Given the description of an element on the screen output the (x, y) to click on. 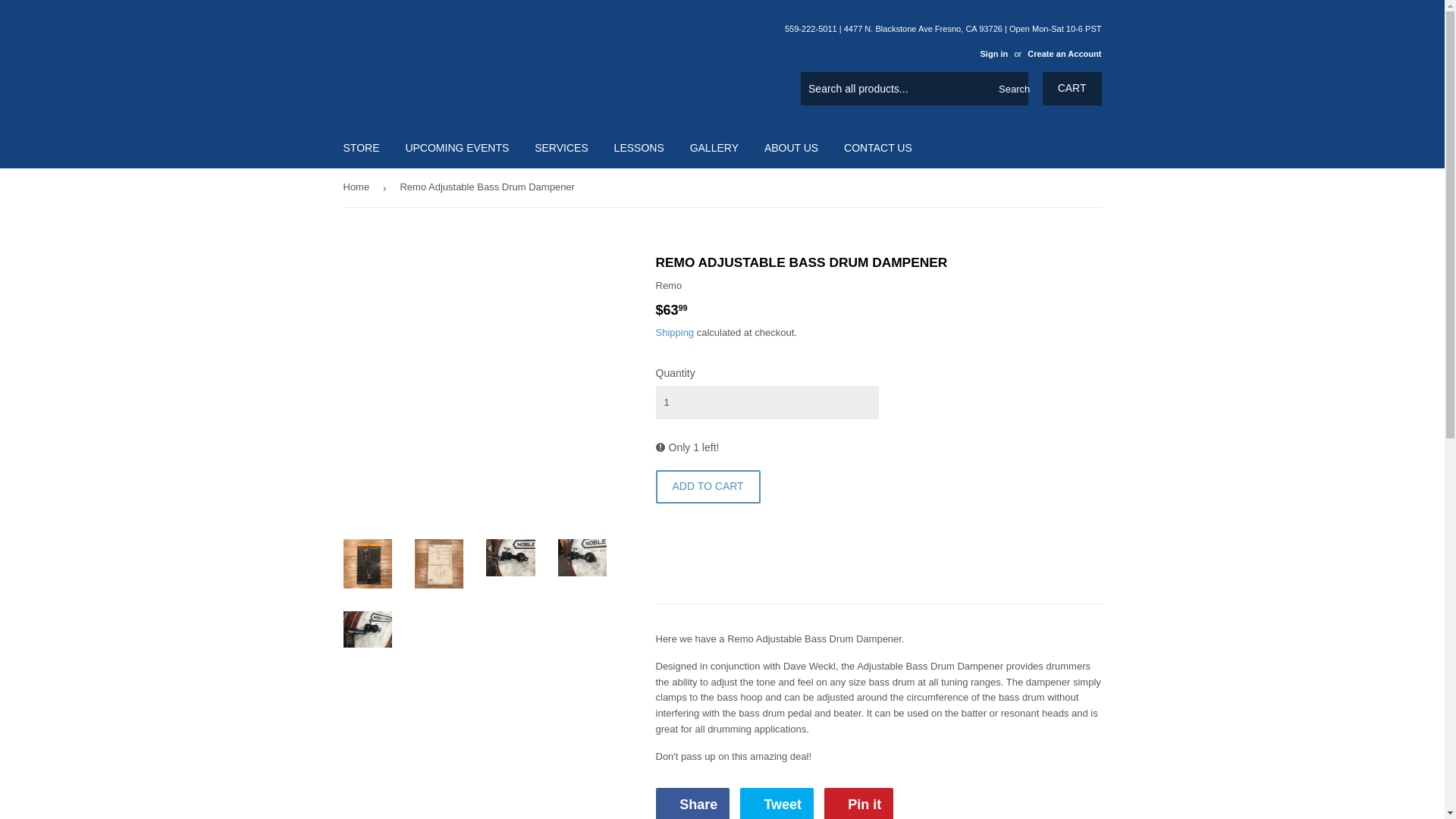
Share on Facebook (692, 803)
Pin on Pinterest (858, 803)
CART (1072, 88)
Tweet on Twitter (776, 803)
1 (766, 402)
Create an Account (1063, 53)
Search (1010, 89)
Sign in (993, 53)
